Given the description of an element on the screen output the (x, y) to click on. 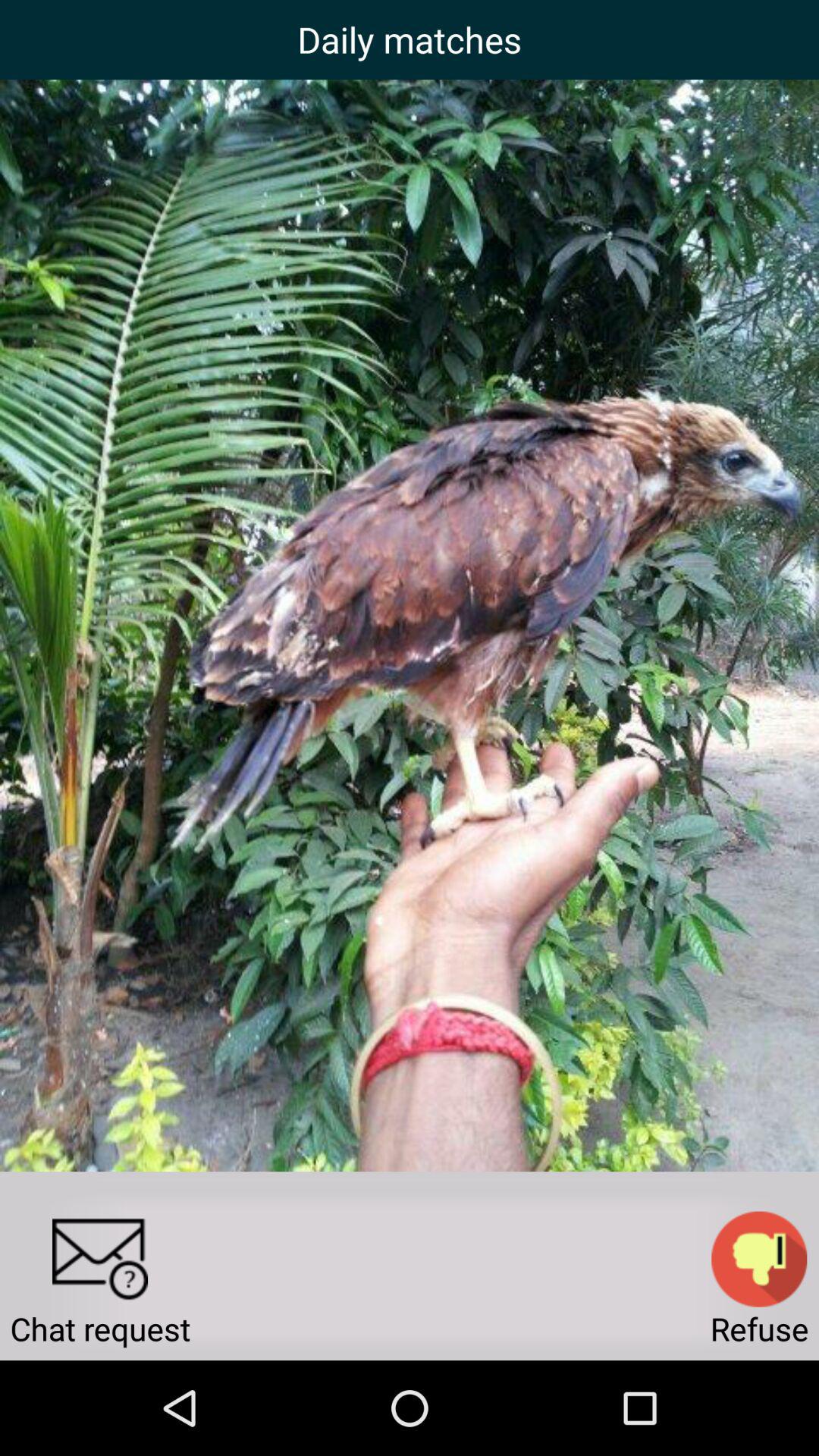
press the icon to the left of the refuse app (99, 1258)
